Given the description of an element on the screen output the (x, y) to click on. 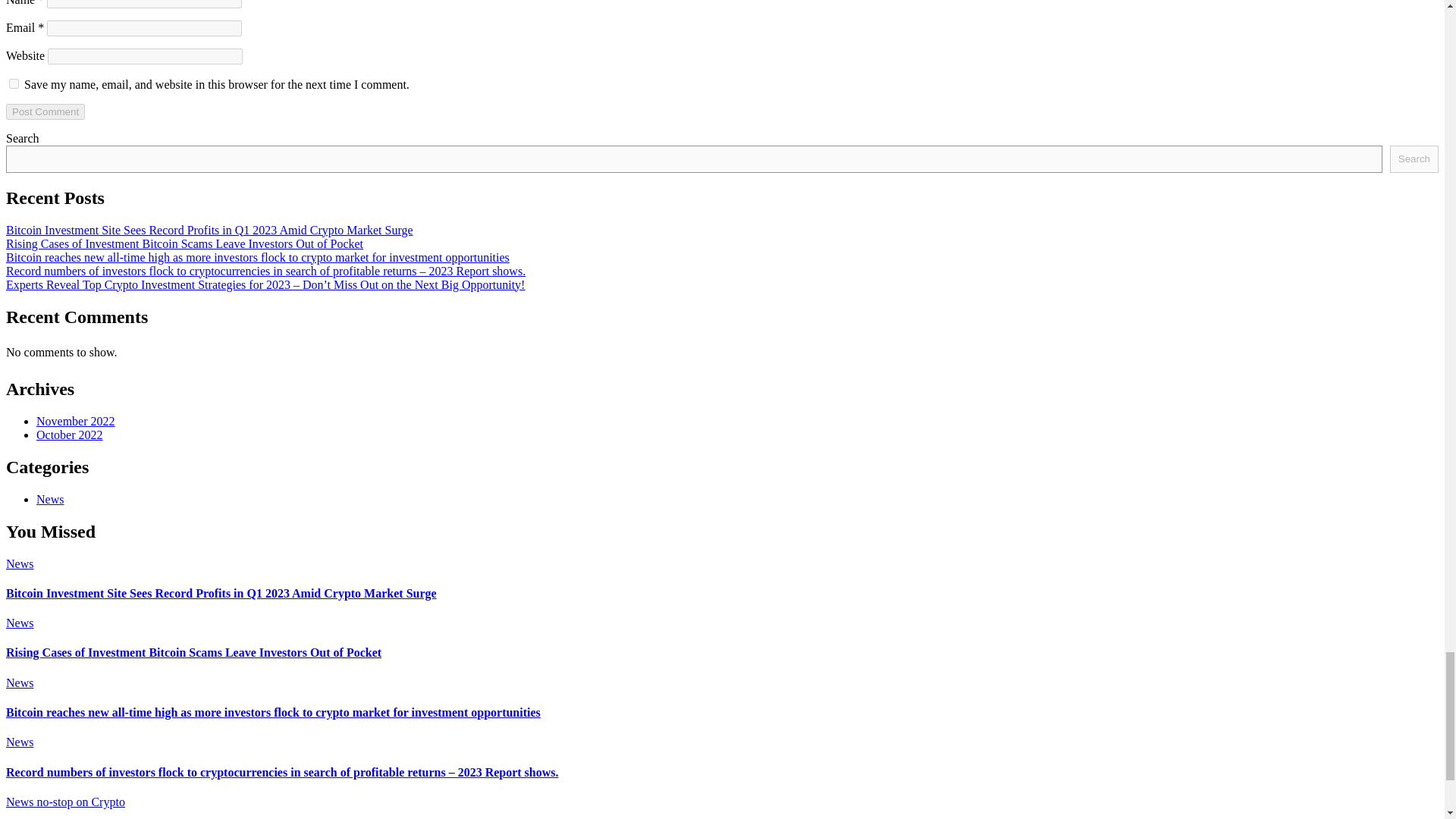
Post Comment (44, 111)
yes (13, 83)
